Given the description of an element on the screen output the (x, y) to click on. 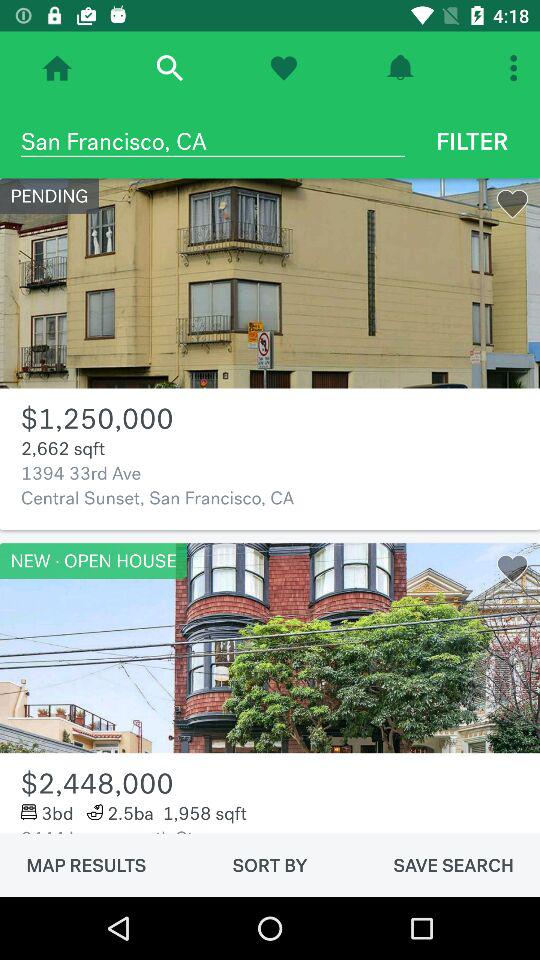
scroll until sort by item (269, 865)
